Given the description of an element on the screen output the (x, y) to click on. 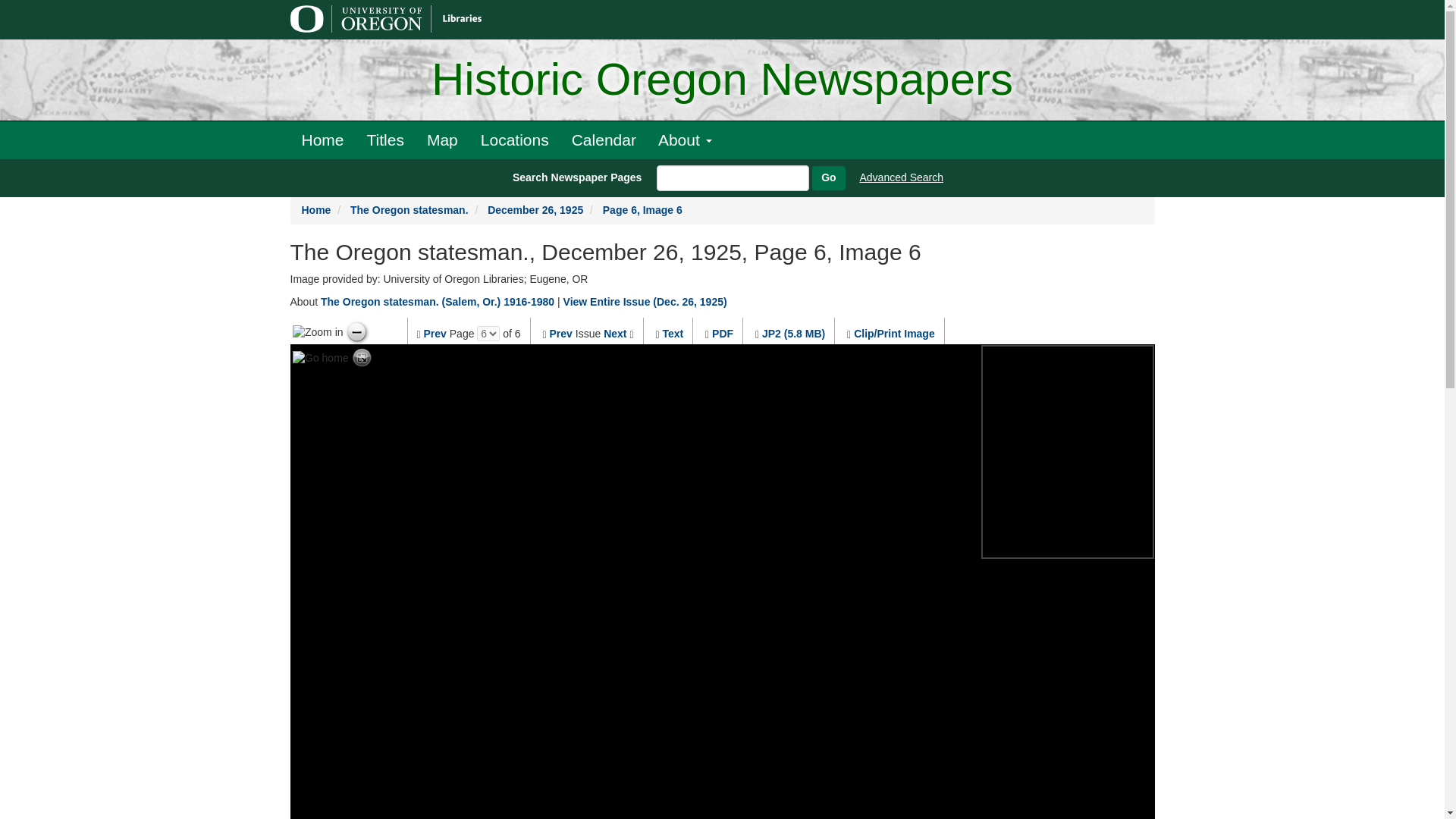
Titles (384, 139)
Page 6, Image 6 (642, 209)
Home (322, 139)
Go (828, 178)
Prev (434, 333)
Locations (514, 139)
About (684, 140)
Historic Oregon Newspapers (721, 79)
Home (316, 209)
PDF (722, 333)
